Given the description of an element on the screen output the (x, y) to click on. 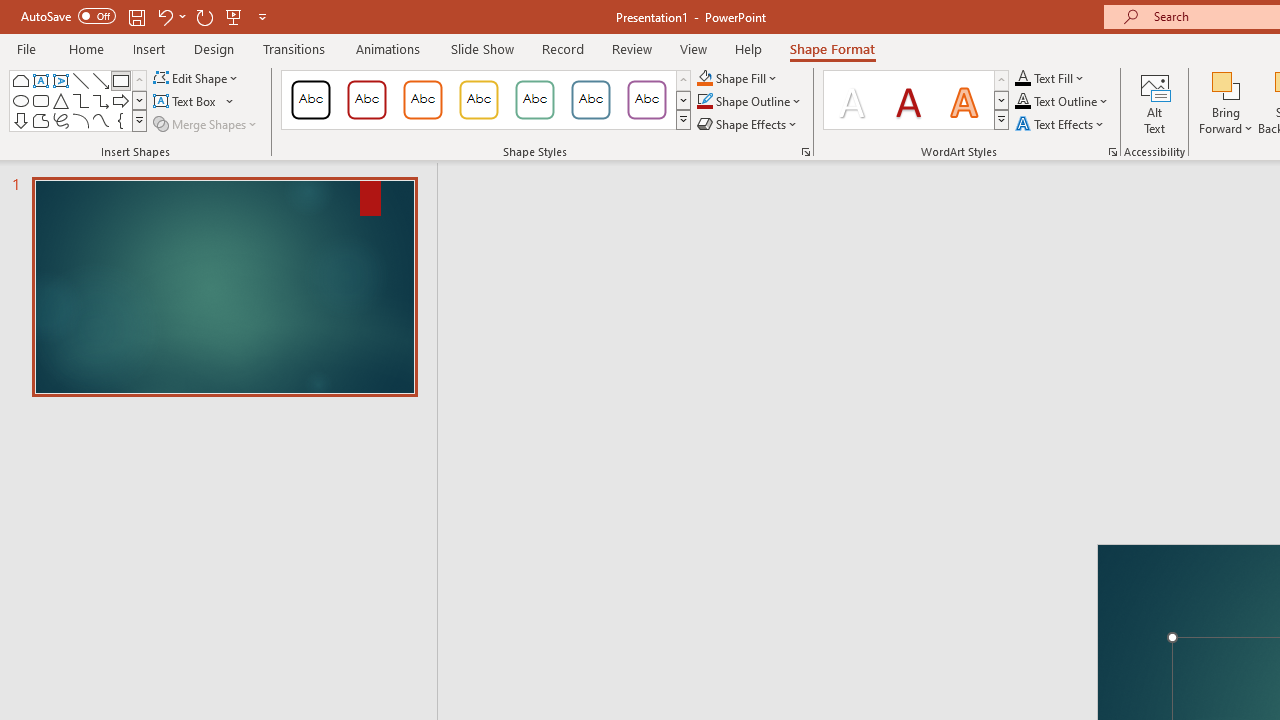
Bring Forward (1225, 102)
Fill: White, Text color 1; Shadow (852, 100)
